Given the description of an element on the screen output the (x, y) to click on. 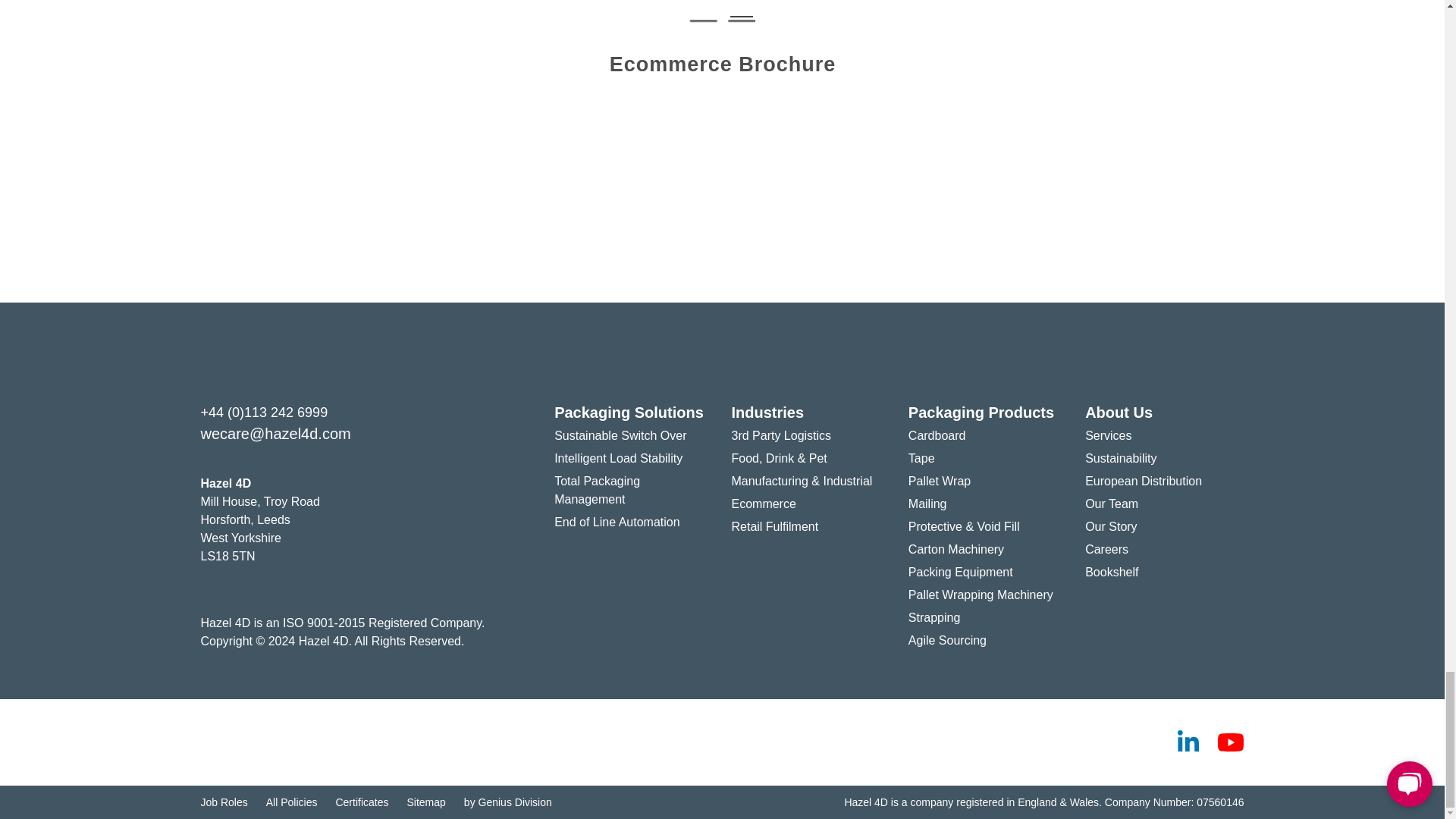
YouTube (1229, 742)
